Given the description of an element on the screen output the (x, y) to click on. 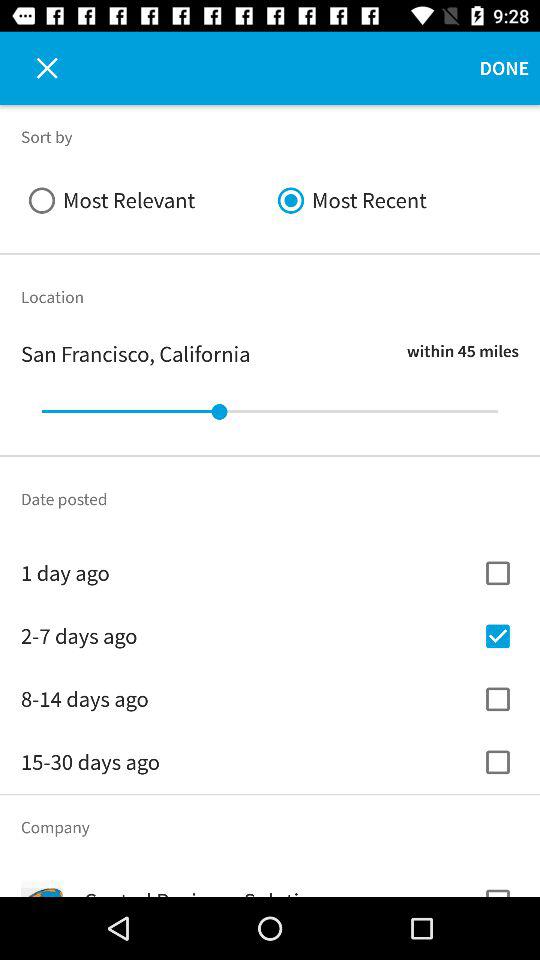
open item below sort by (394, 200)
